Given the description of an element on the screen output the (x, y) to click on. 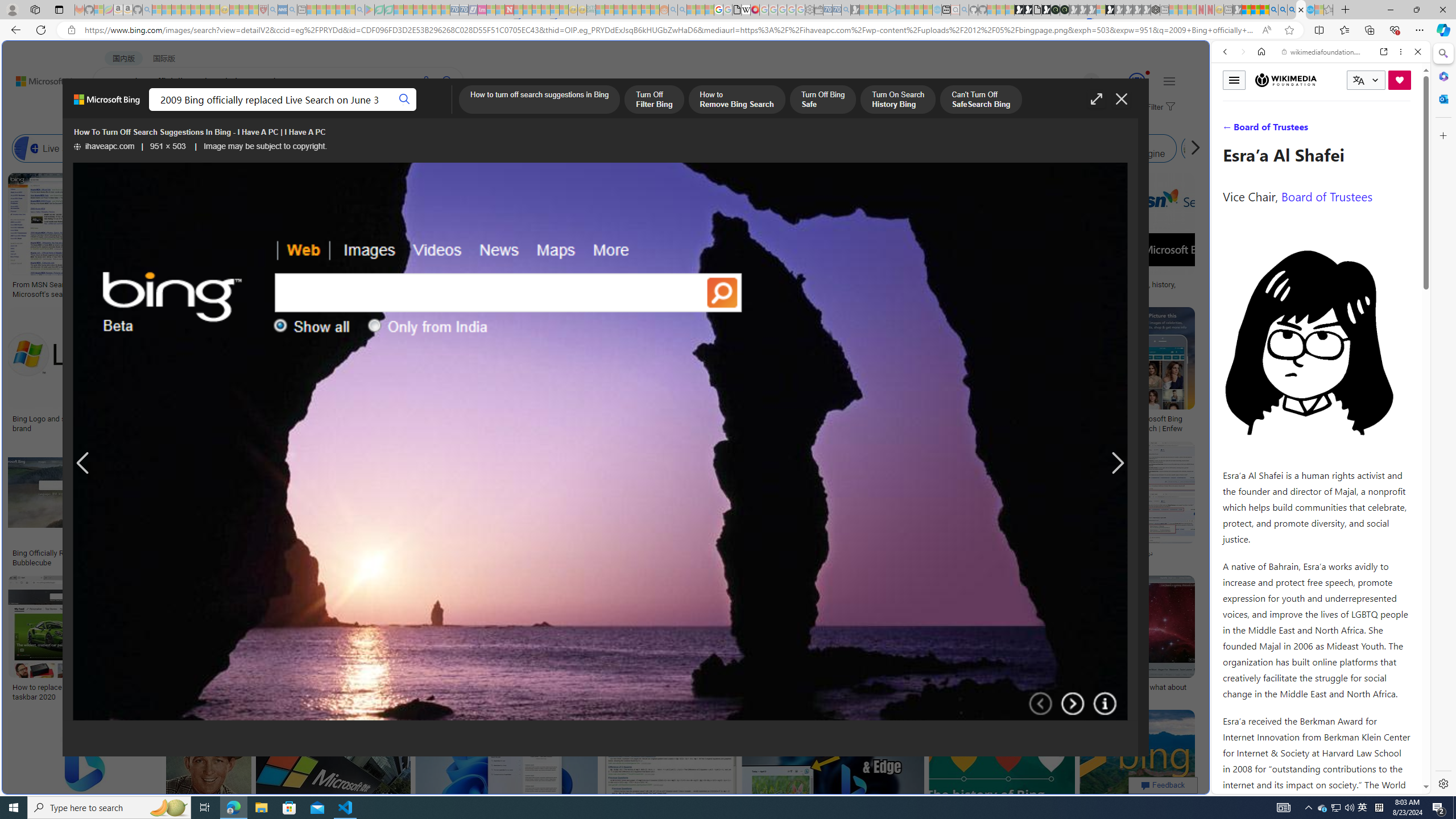
Play Zoo Boom in your browser | Games from Microsoft Start (1027, 9)
MORE (451, 111)
